Given the description of an element on the screen output the (x, y) to click on. 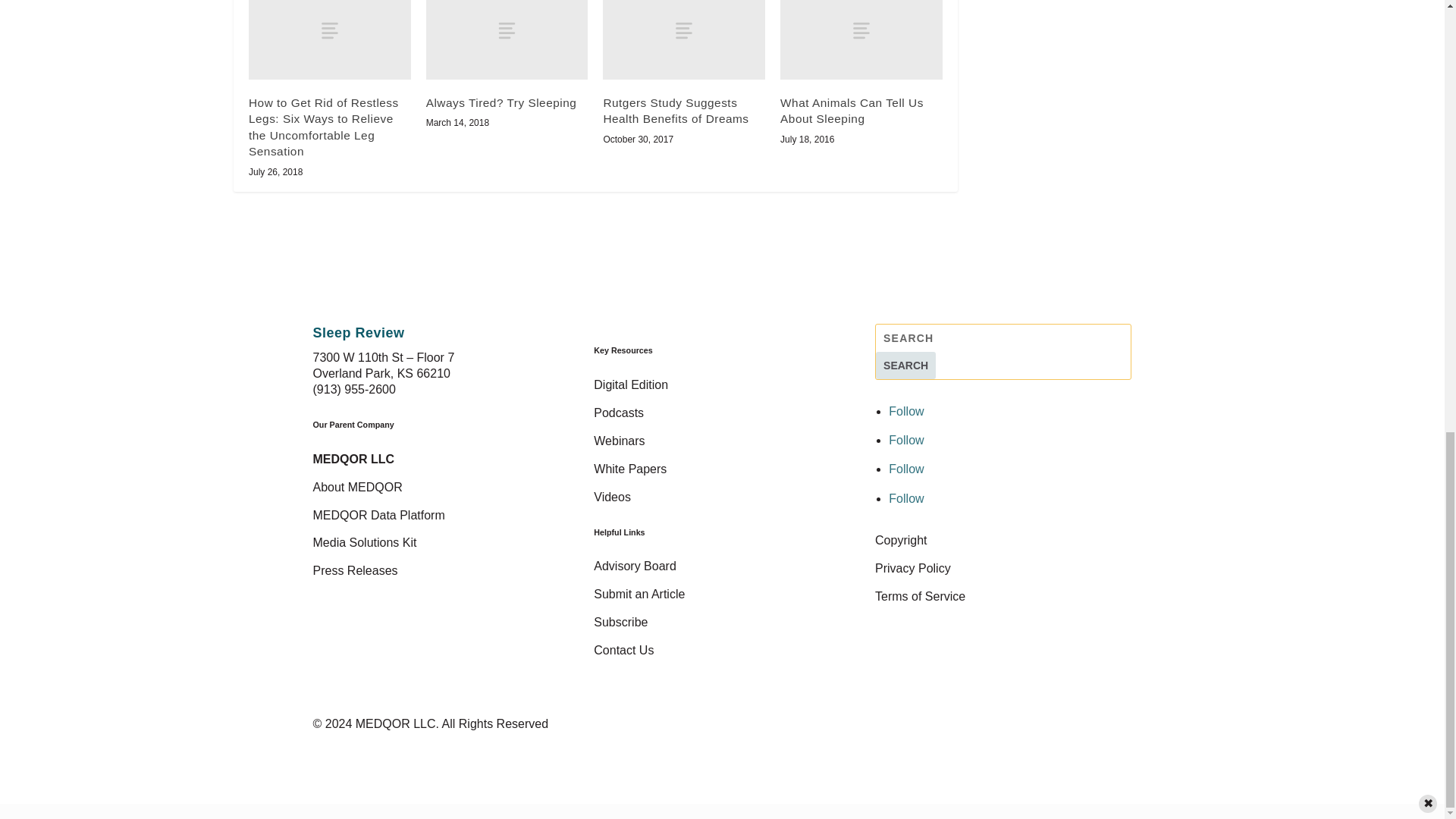
Always Tired? Try Sleeping (507, 39)
Search (906, 365)
Search (906, 365)
